Given the description of an element on the screen output the (x, y) to click on. 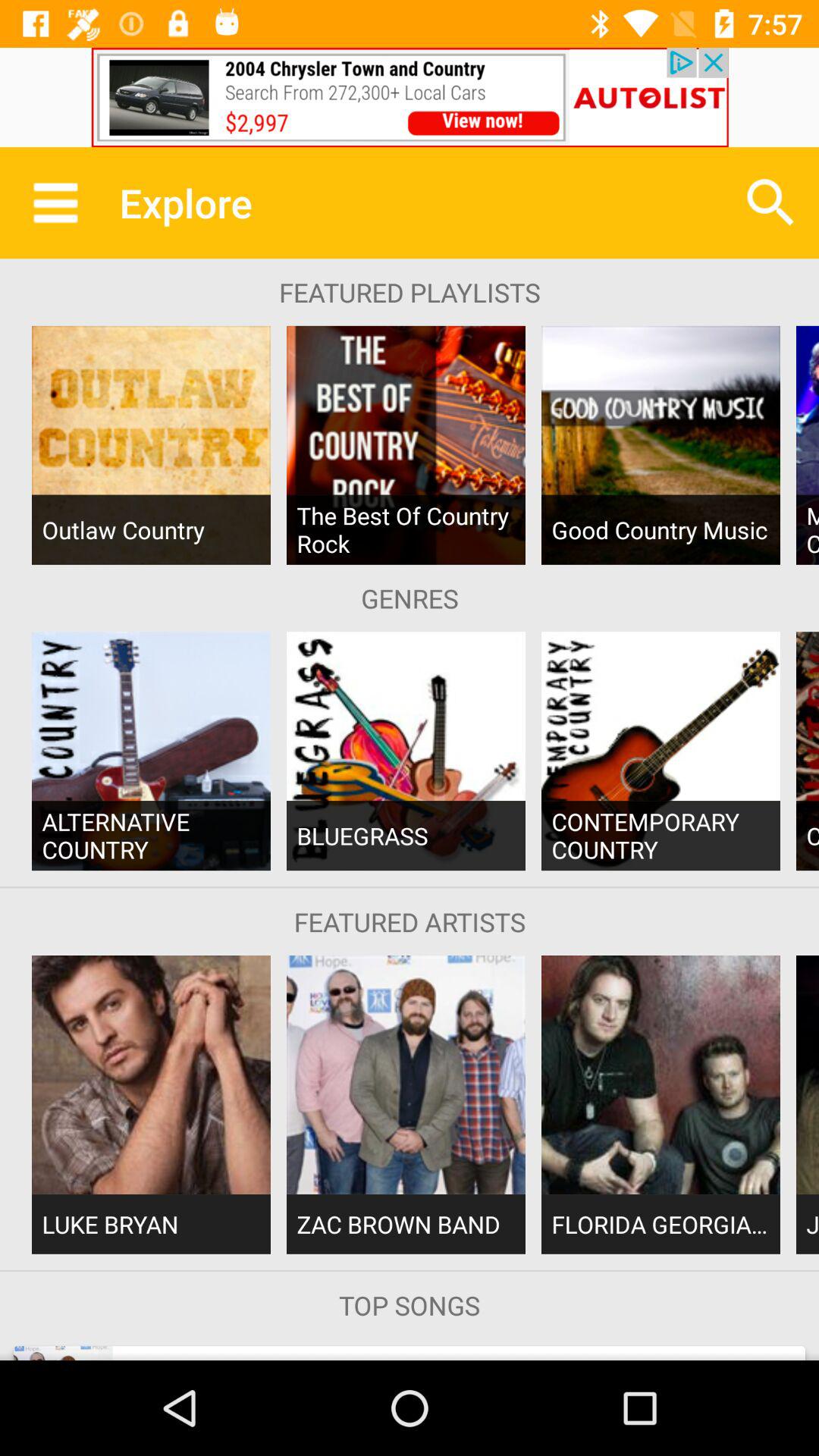
link to advertisement (409, 97)
